Given the description of an element on the screen output the (x, y) to click on. 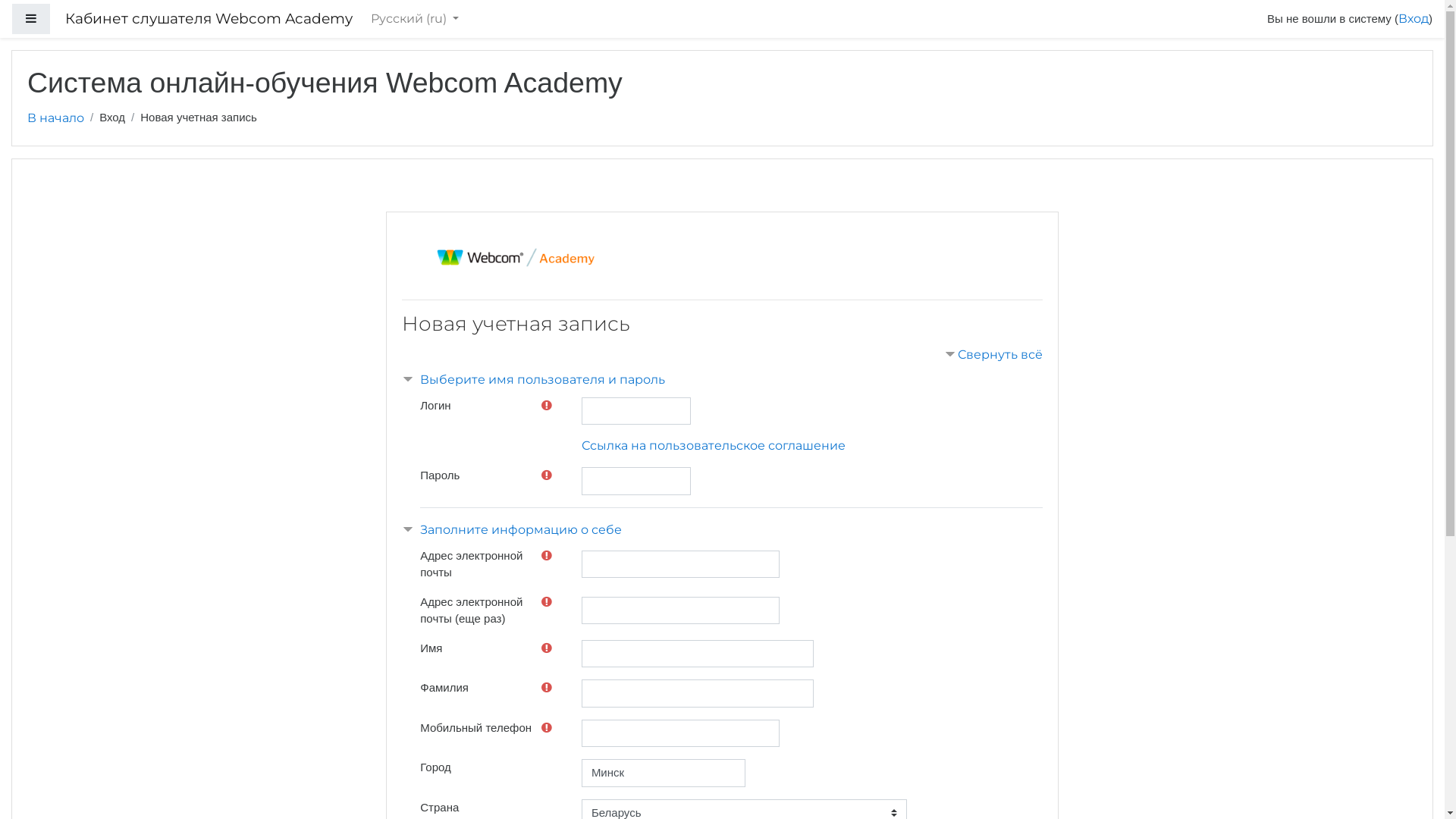
Side panel Element type: text (31, 18)
